Given the description of an element on the screen output the (x, y) to click on. 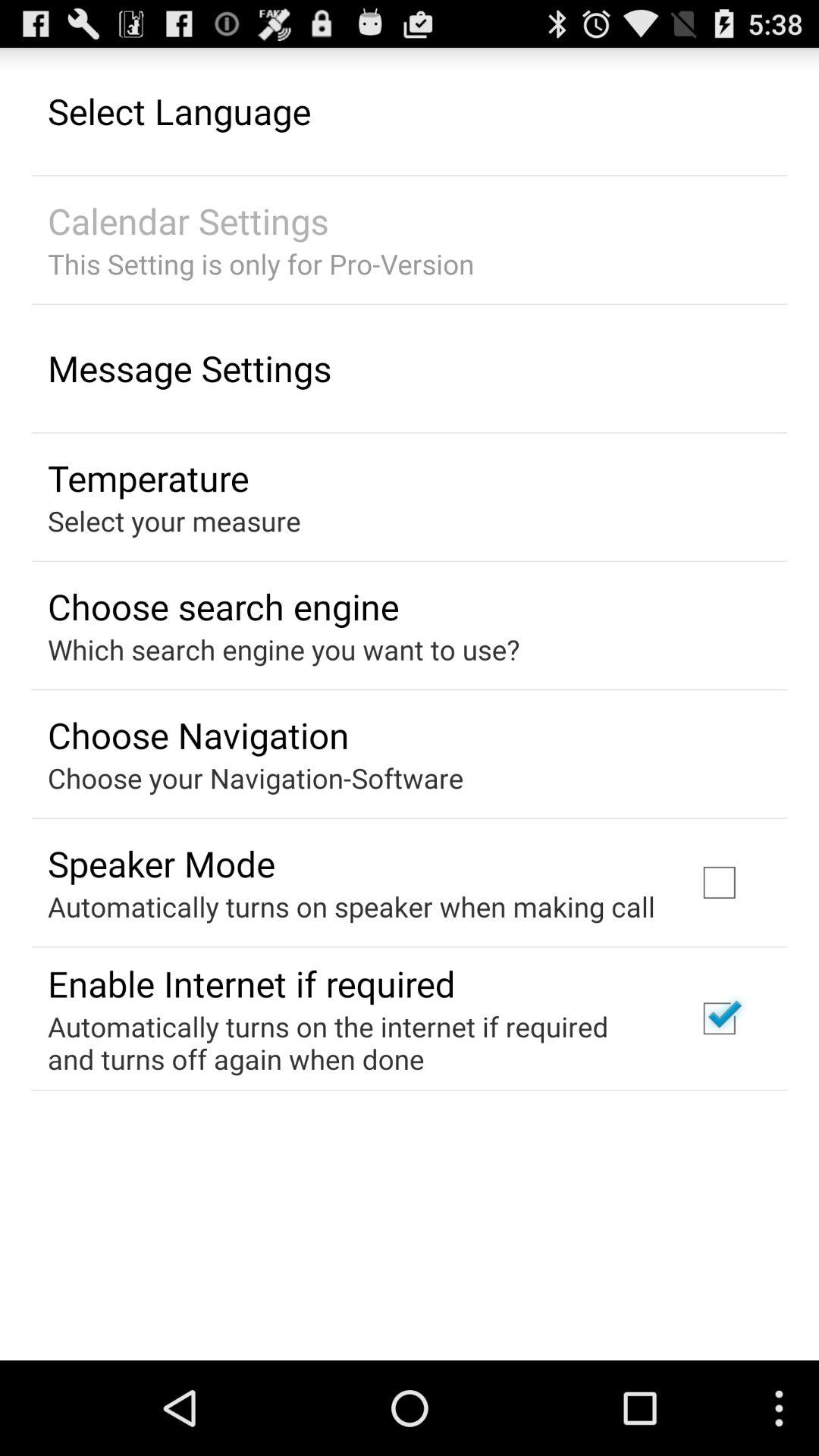
press the item above the temperature (189, 368)
